Given the description of an element on the screen output the (x, y) to click on. 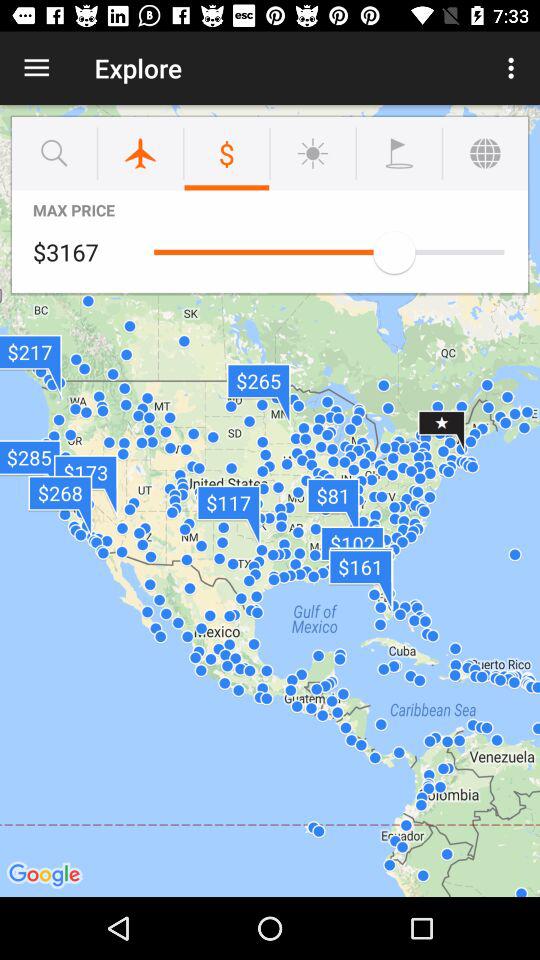
launch the icon at the center (270, 500)
